Given the description of an element on the screen output the (x, y) to click on. 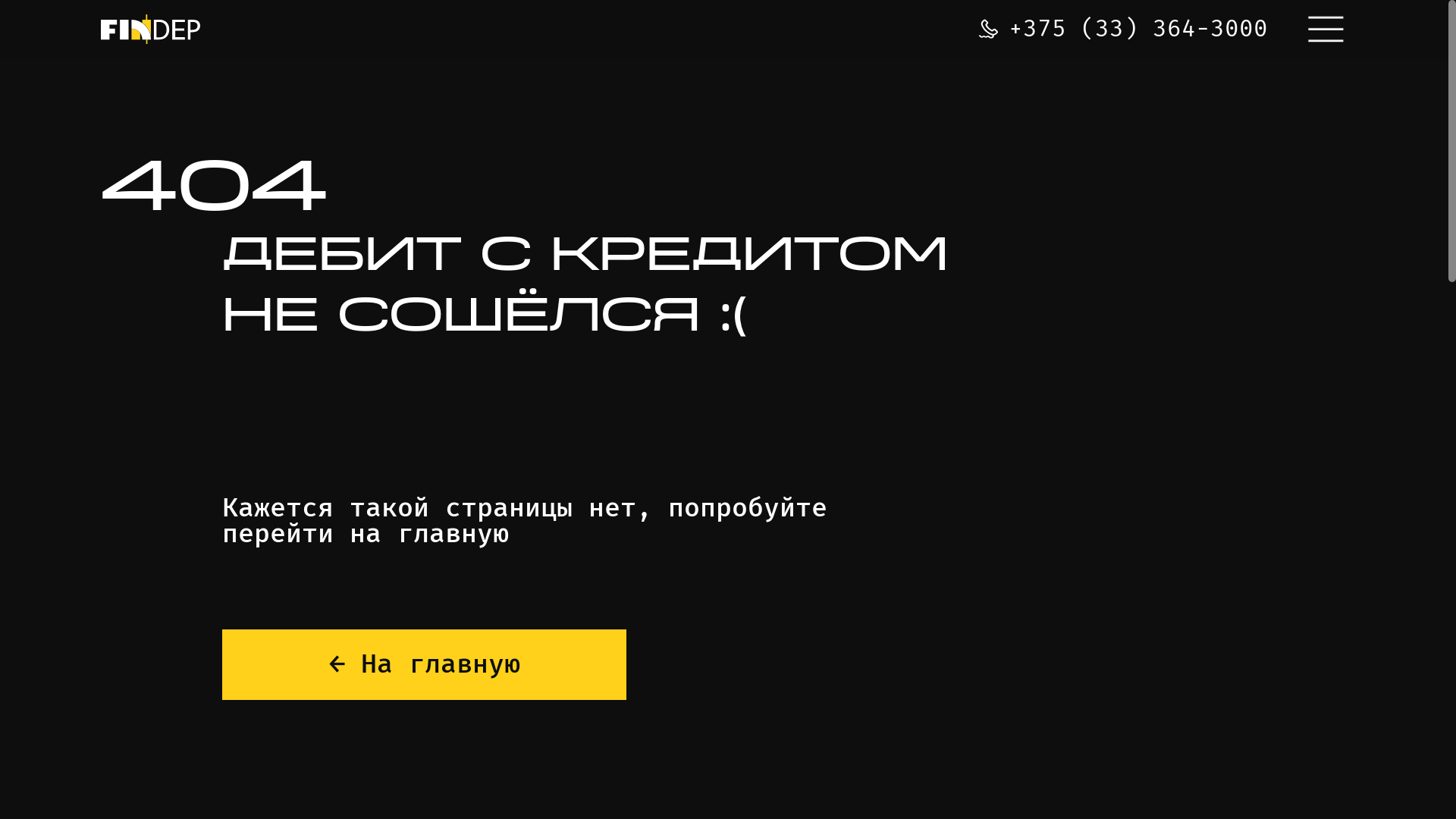
+375 (33) 364-3000 Element type: text (1123, 29)
